Given the description of an element on the screen output the (x, y) to click on. 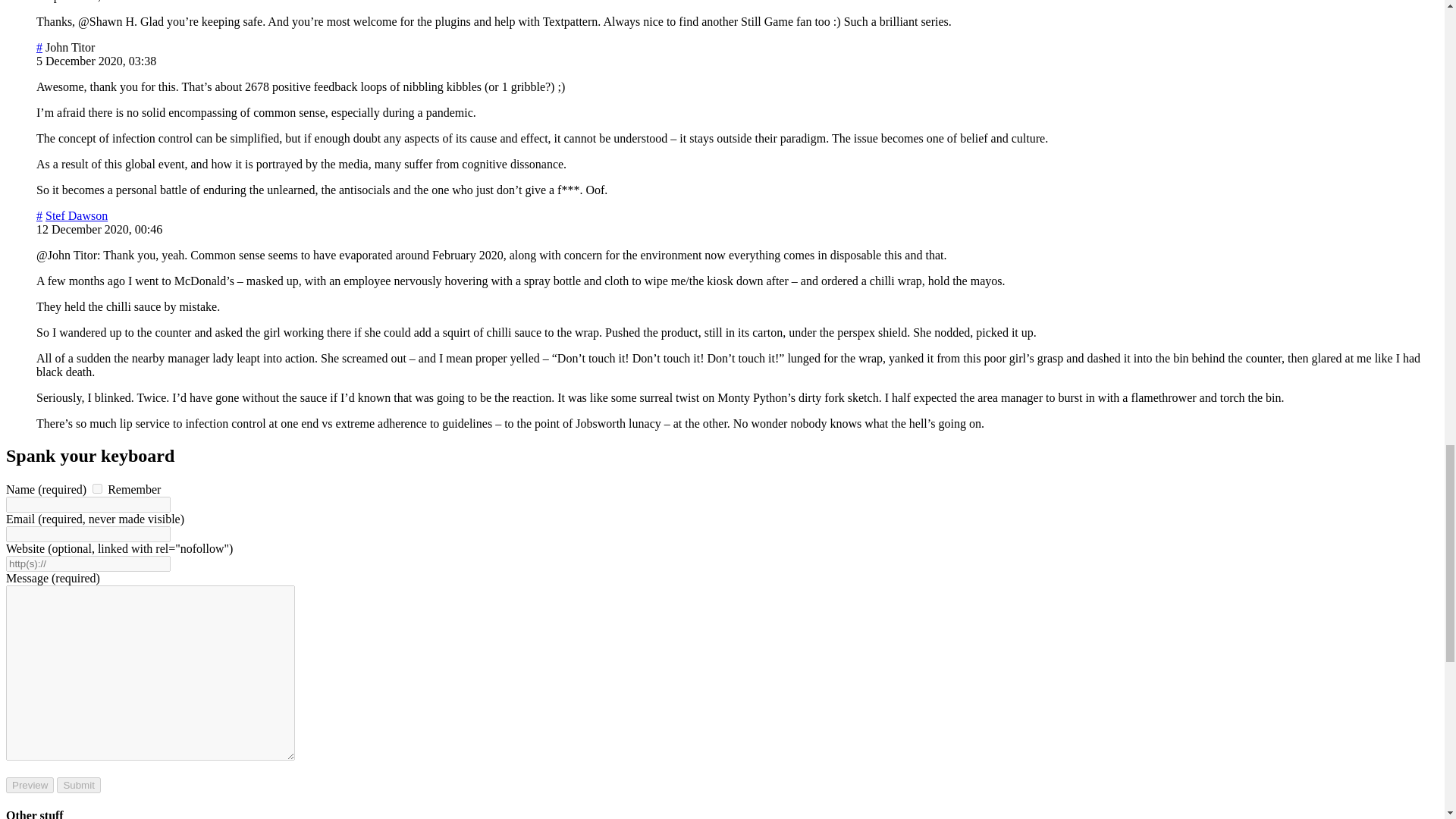
Preview (29, 784)
Stef Dawson (76, 215)
Submit (78, 784)
1 (97, 488)
Submit (78, 784)
Preview (29, 784)
